Given the description of an element on the screen output the (x, y) to click on. 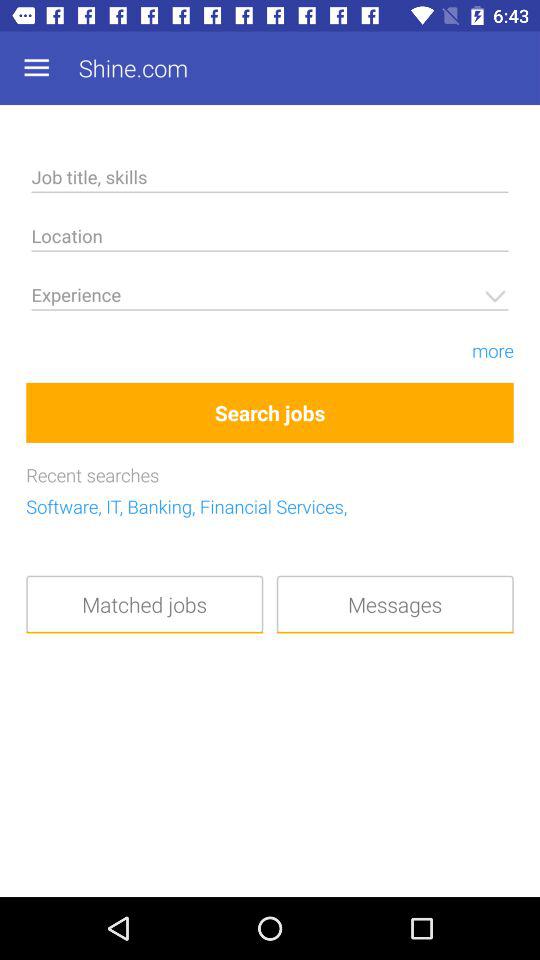
enter job little box (269, 180)
